Given the description of an element on the screen output the (x, y) to click on. 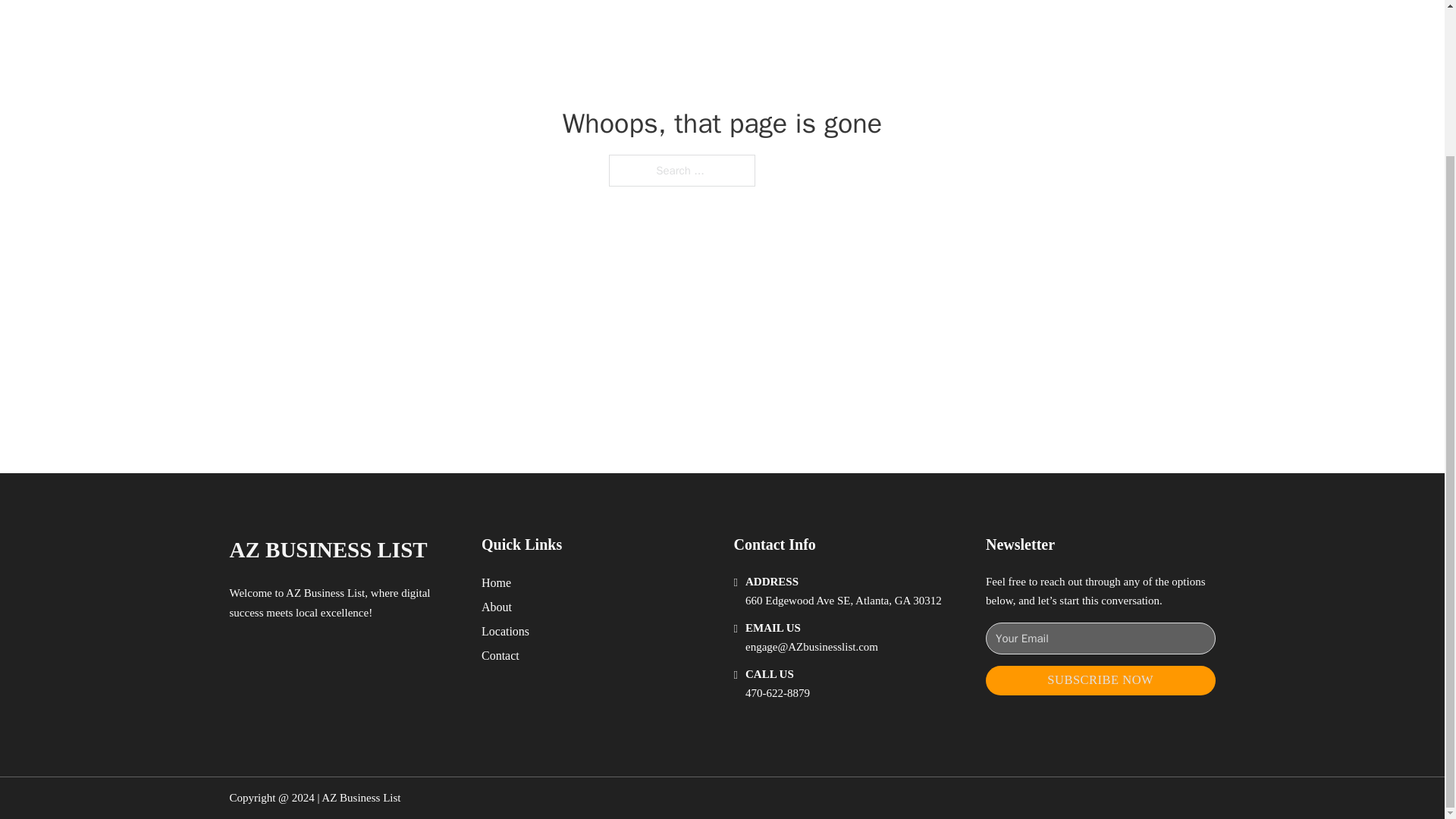
470-622-8879 (777, 693)
Home (496, 582)
Locations (505, 630)
Contact (500, 655)
About (496, 607)
AZ BUSINESS LIST (327, 549)
SUBSCRIBE NOW (1100, 680)
